Given the description of an element on the screen output the (x, y) to click on. 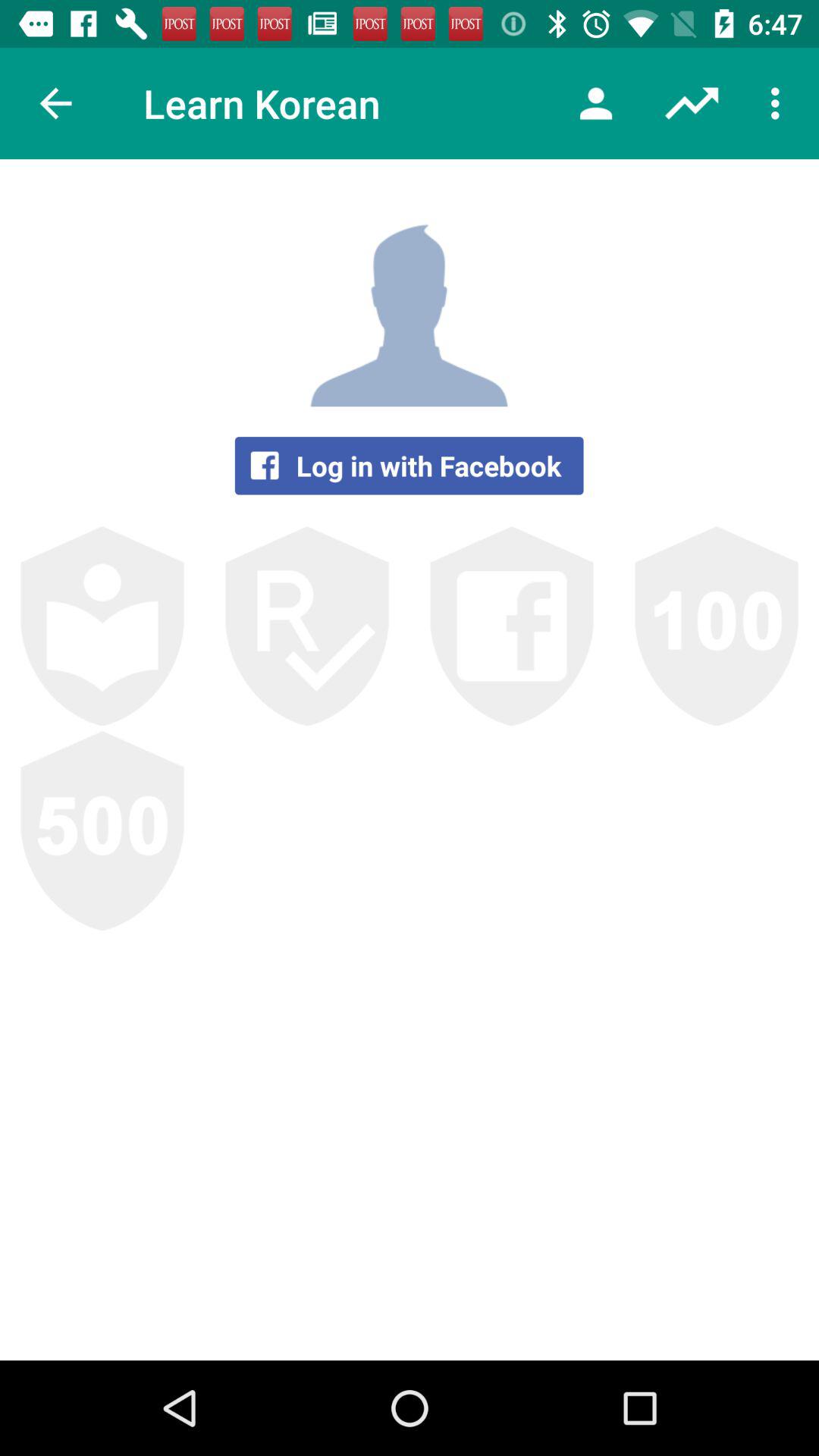
click icon next to the learn korean item (55, 103)
